Given the description of an element on the screen output the (x, y) to click on. 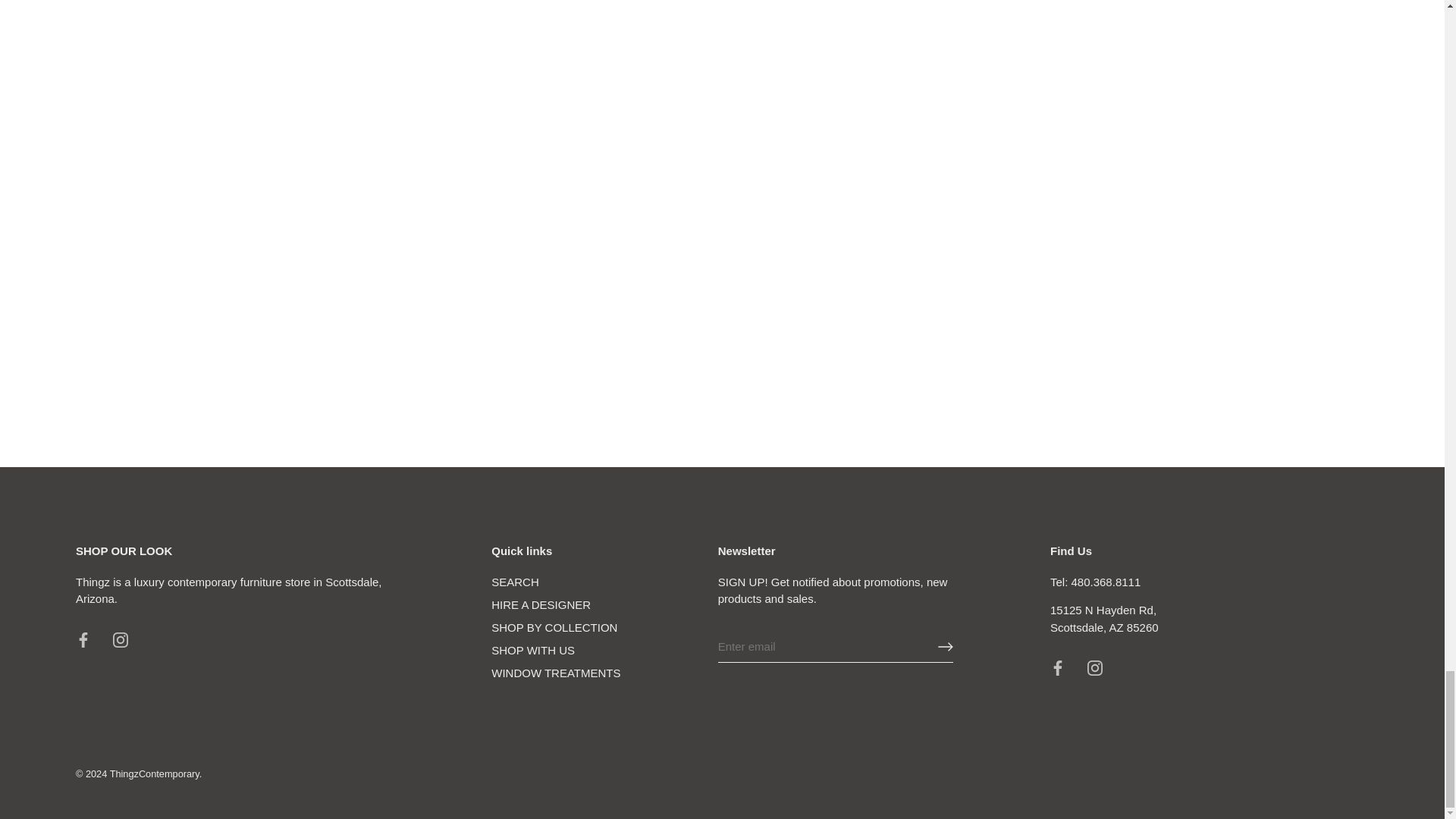
Instagram (120, 639)
Instagram (1094, 667)
RIGHT ARROW LONG (945, 646)
